Given the description of an element on the screen output the (x, y) to click on. 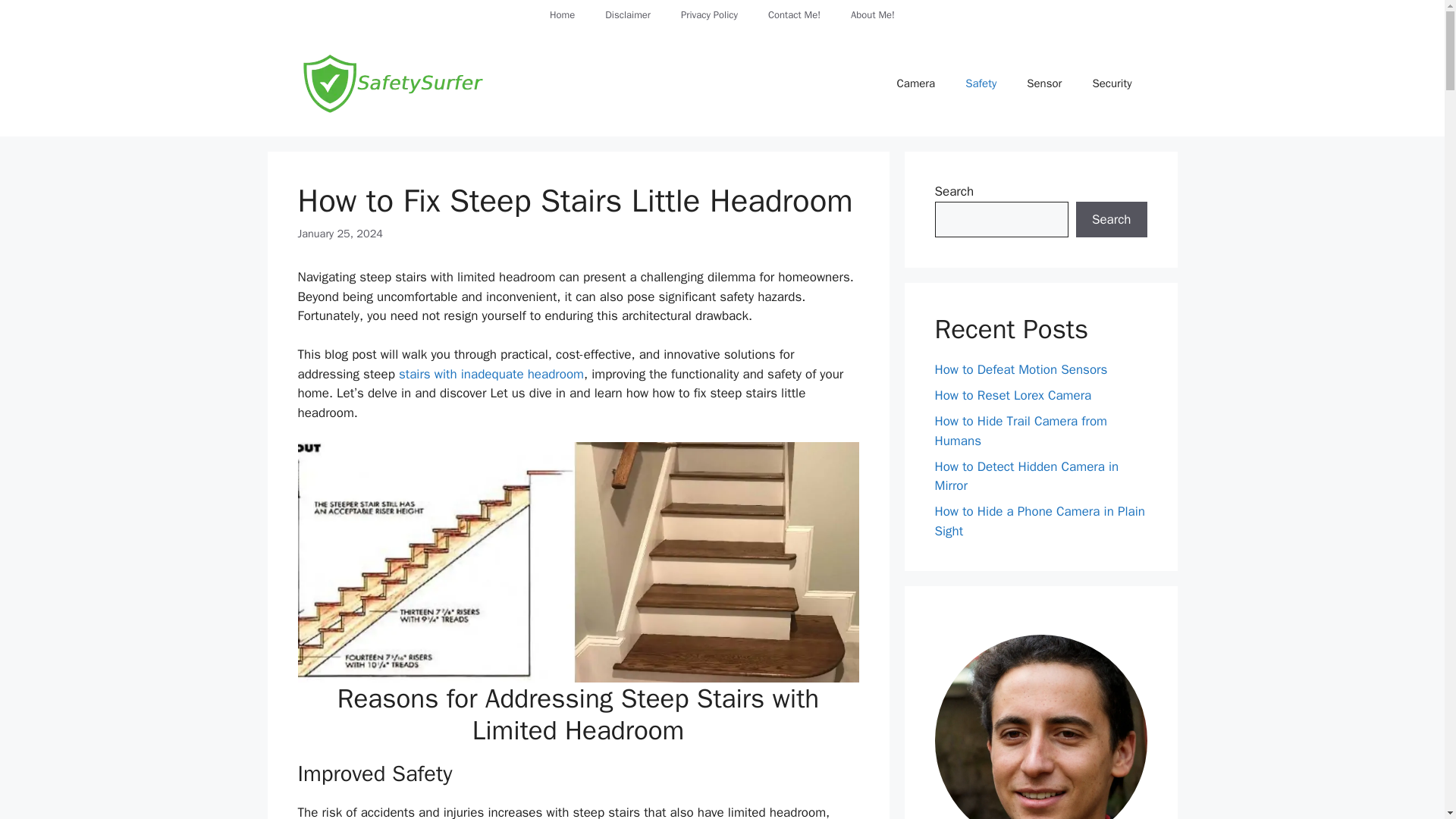
Home (561, 15)
Privacy Policy (708, 15)
How to Reset Lorex Camera (1012, 395)
Safety (980, 83)
How to Detect Hidden Camera in Mirror (1026, 475)
About Me! (872, 15)
How to Hide a Phone Camera in Plain Sight (1039, 520)
Sensor (1044, 83)
Search (1111, 219)
Camera (916, 83)
stairs with inadequate headroom (490, 374)
How to Defeat Motion Sensors (1020, 369)
Security (1112, 83)
Contact Me! (793, 15)
Disclaimer (627, 15)
